Given the description of an element on the screen output the (x, y) to click on. 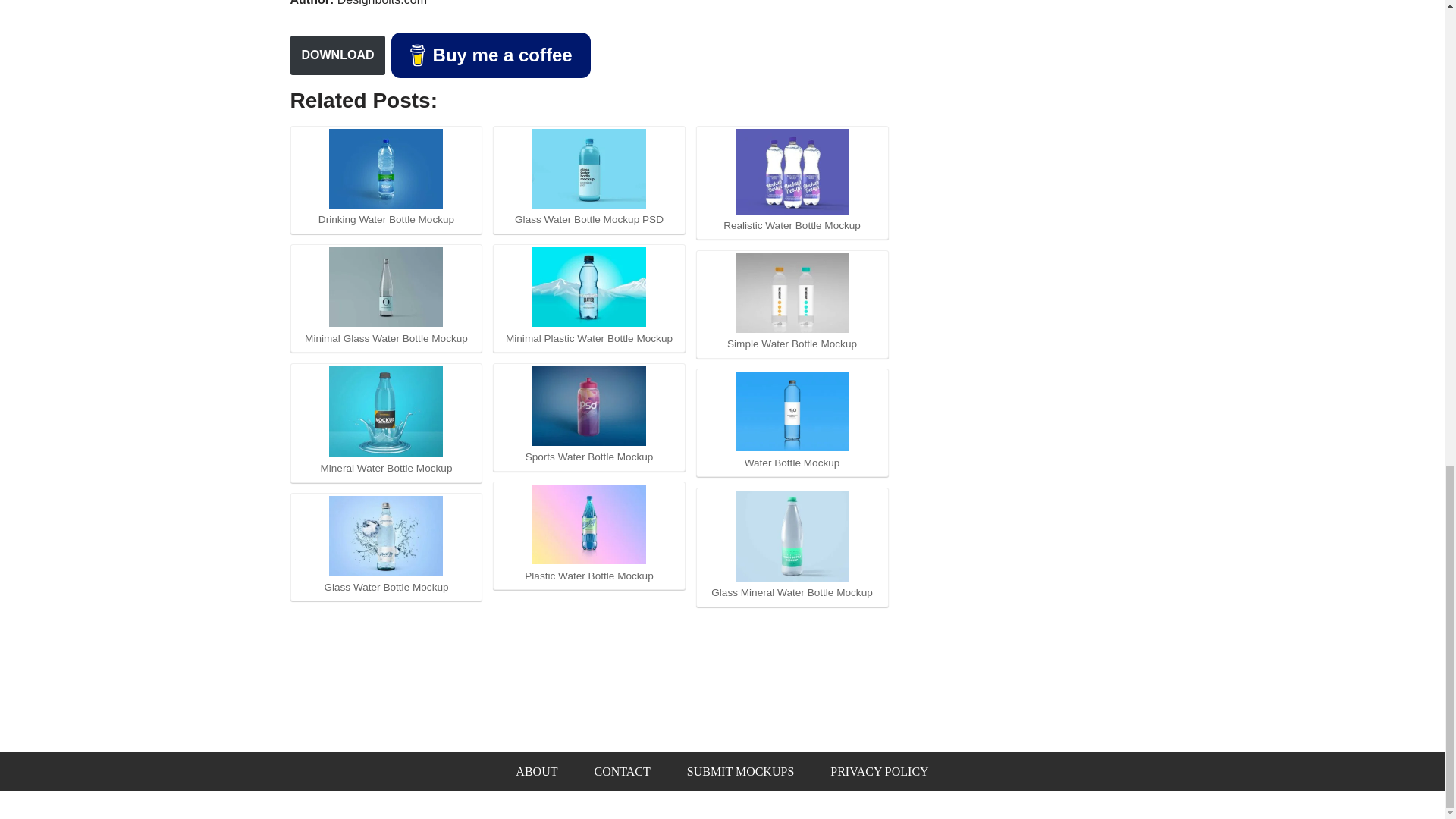
Glass Water Bottle Mockup (385, 535)
Minimal Plastic Water Bottle Mockup (589, 286)
Glass Water Bottle Mockup PSD (589, 168)
Water Bottle Mockup (791, 411)
Plastic Water Bottle Mockup (589, 524)
Glass Mineral Water Bottle Mockup (791, 535)
Drinking Water Bottle Mockup (385, 168)
Realistic Water Bottle Mockup (791, 171)
Mineral Water Bottle Mockup (385, 411)
Sports Water Bottle Mockup (589, 405)
